Given the description of an element on the screen output the (x, y) to click on. 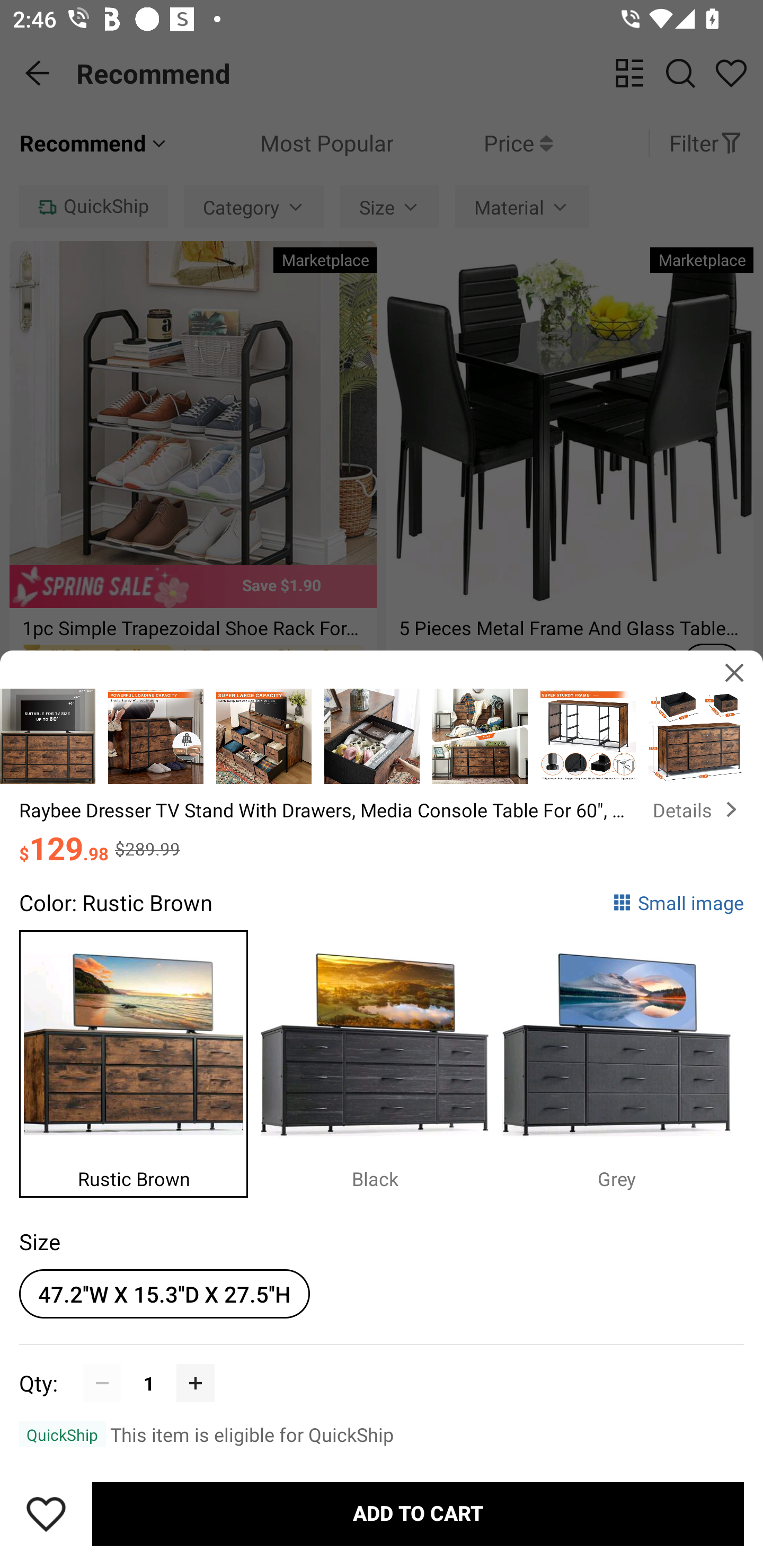
Details (698, 809)
Color: Rustic Brown (115, 902)
Small image (677, 902)
Rustic Brown (139, 1059)
Black (381, 1059)
Grey (622, 1059)
Size (39, 1240)
ADD TO CART (417, 1513)
Save (46, 1513)
